Given the description of an element on the screen output the (x, y) to click on. 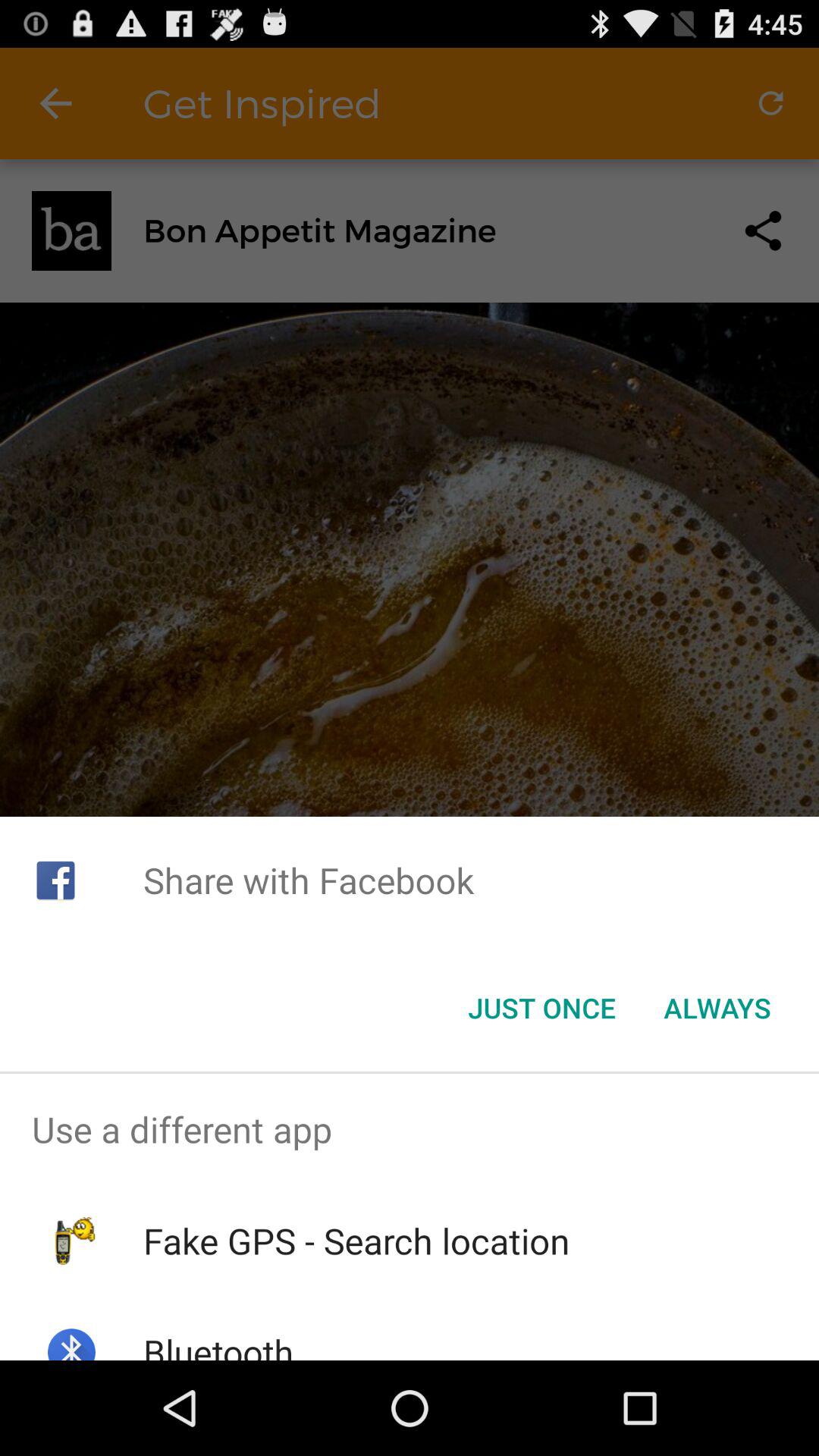
jump until always (717, 1007)
